Given the description of an element on the screen output the (x, y) to click on. 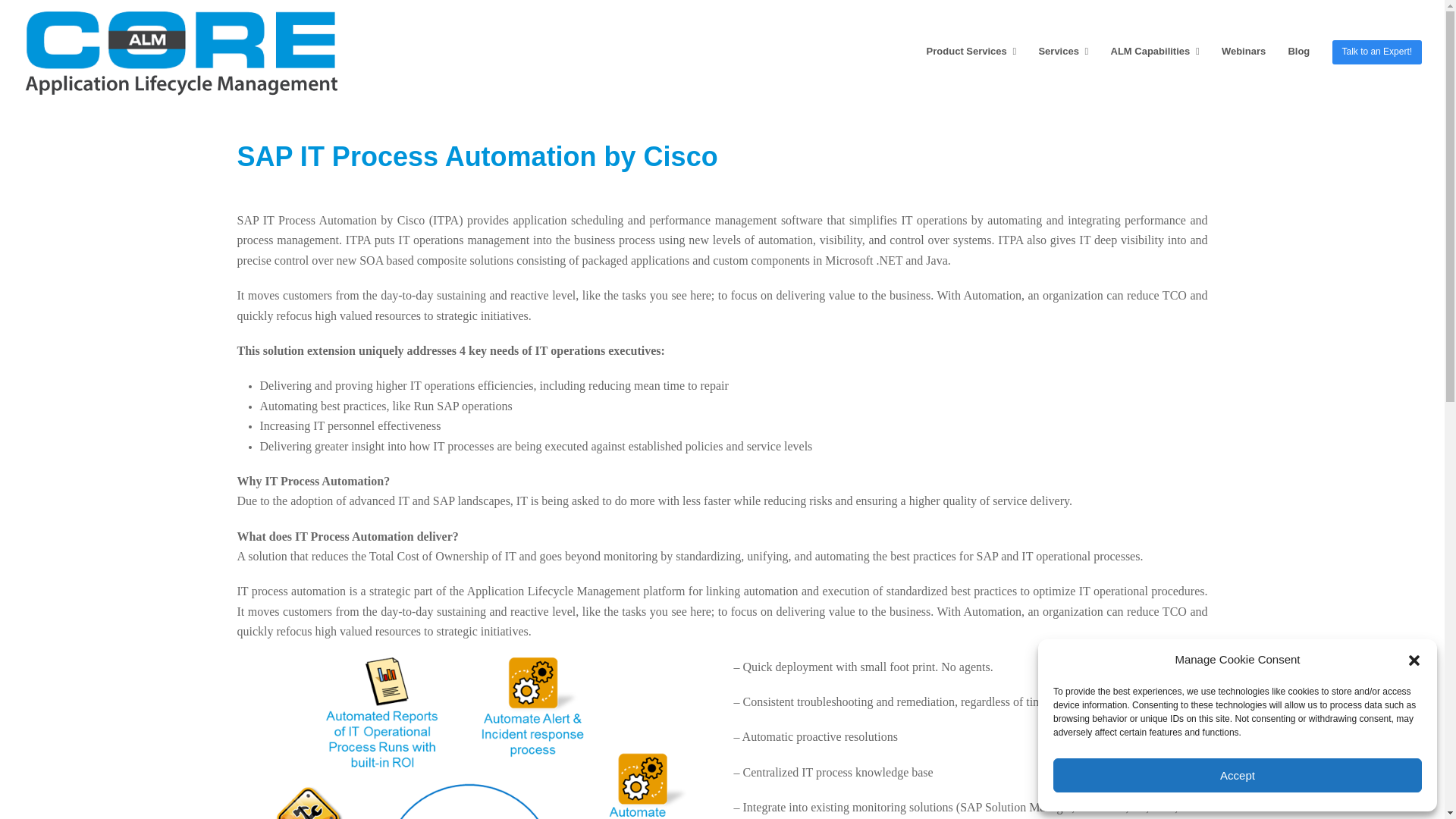
Accept (1237, 775)
Services (1062, 51)
Product Services (971, 51)
